Given the description of an element on the screen output the (x, y) to click on. 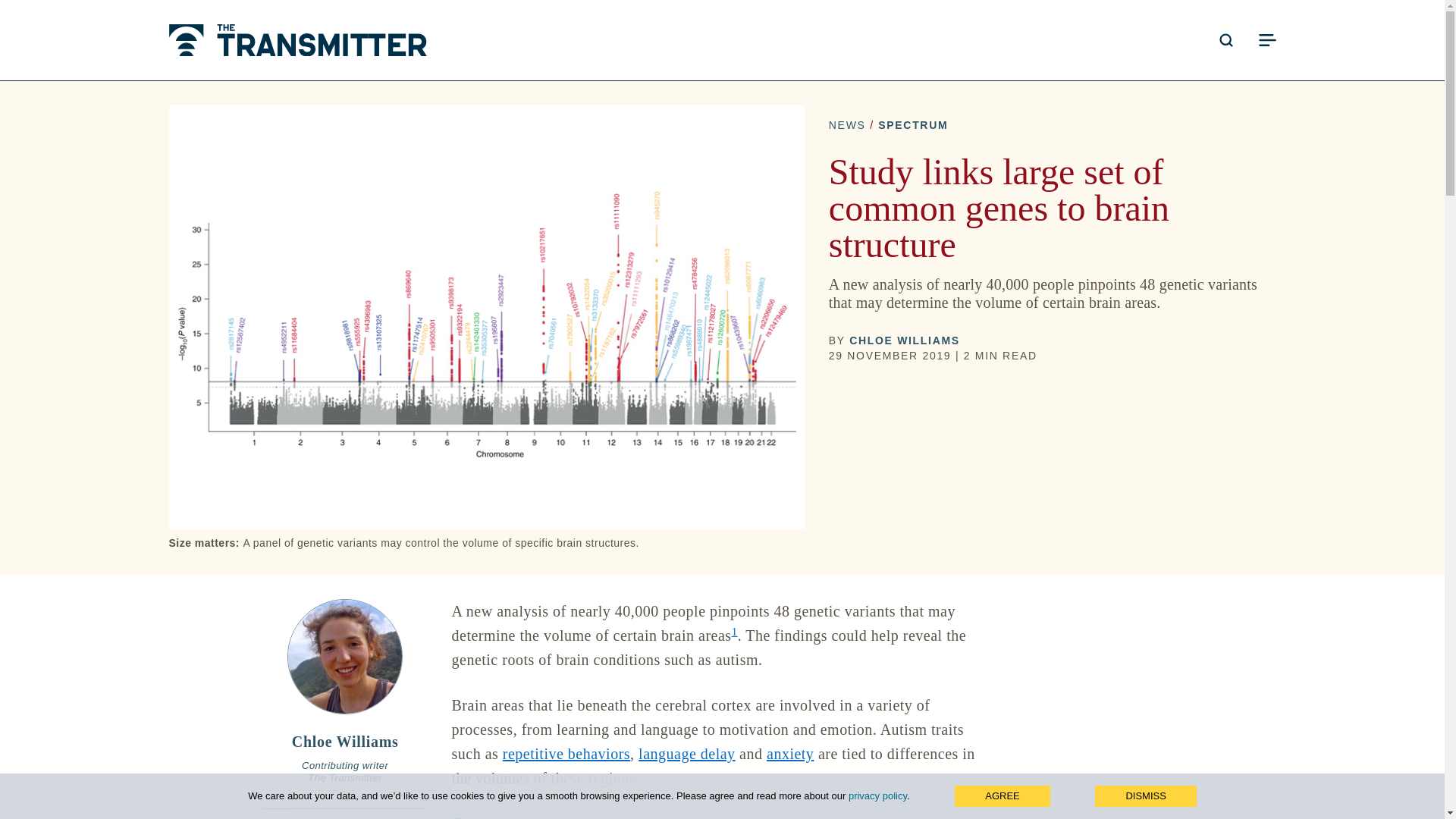
The Transmitter (297, 40)
Open menu (1266, 40)
Open search form (1225, 39)
